Given the description of an element on the screen output the (x, y) to click on. 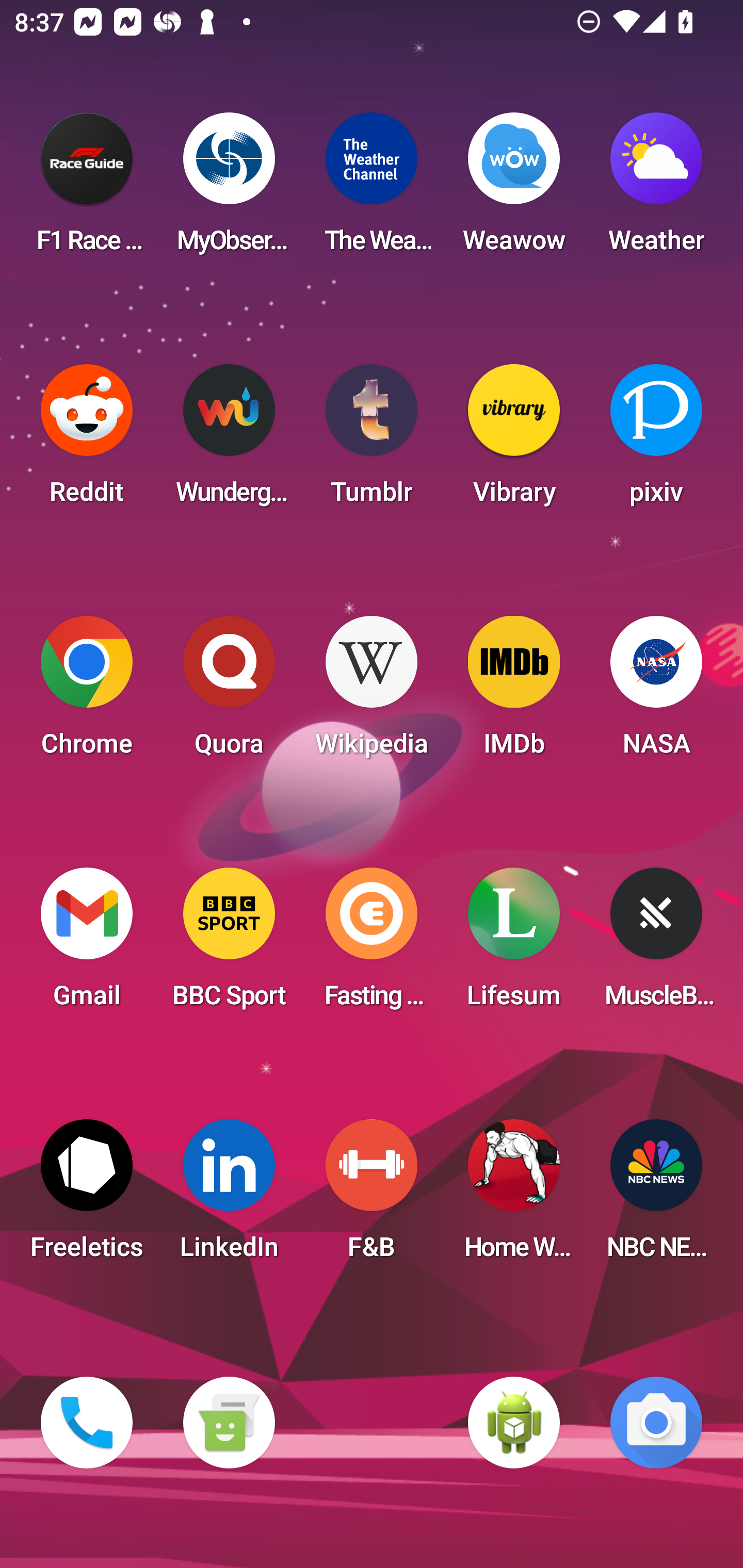
F1 Race Guide (86, 188)
MyObservatory (228, 188)
The Weather Channel (371, 188)
Weawow (513, 188)
Weather (656, 188)
Reddit (86, 440)
Wunderground (228, 440)
Tumblr (371, 440)
Vibrary (513, 440)
pixiv (656, 440)
Chrome (86, 692)
Quora (228, 692)
Wikipedia (371, 692)
IMDb (513, 692)
NASA (656, 692)
Gmail (86, 943)
BBC Sport (228, 943)
Fasting Coach (371, 943)
Lifesum (513, 943)
MuscleBooster (656, 943)
Freeletics (86, 1195)
LinkedIn (228, 1195)
F&B (371, 1195)
Home Workout (513, 1195)
NBC NEWS (656, 1195)
Phone (86, 1422)
Messaging (228, 1422)
WebView Browser Tester (513, 1422)
Camera (656, 1422)
